Given the description of an element on the screen output the (x, y) to click on. 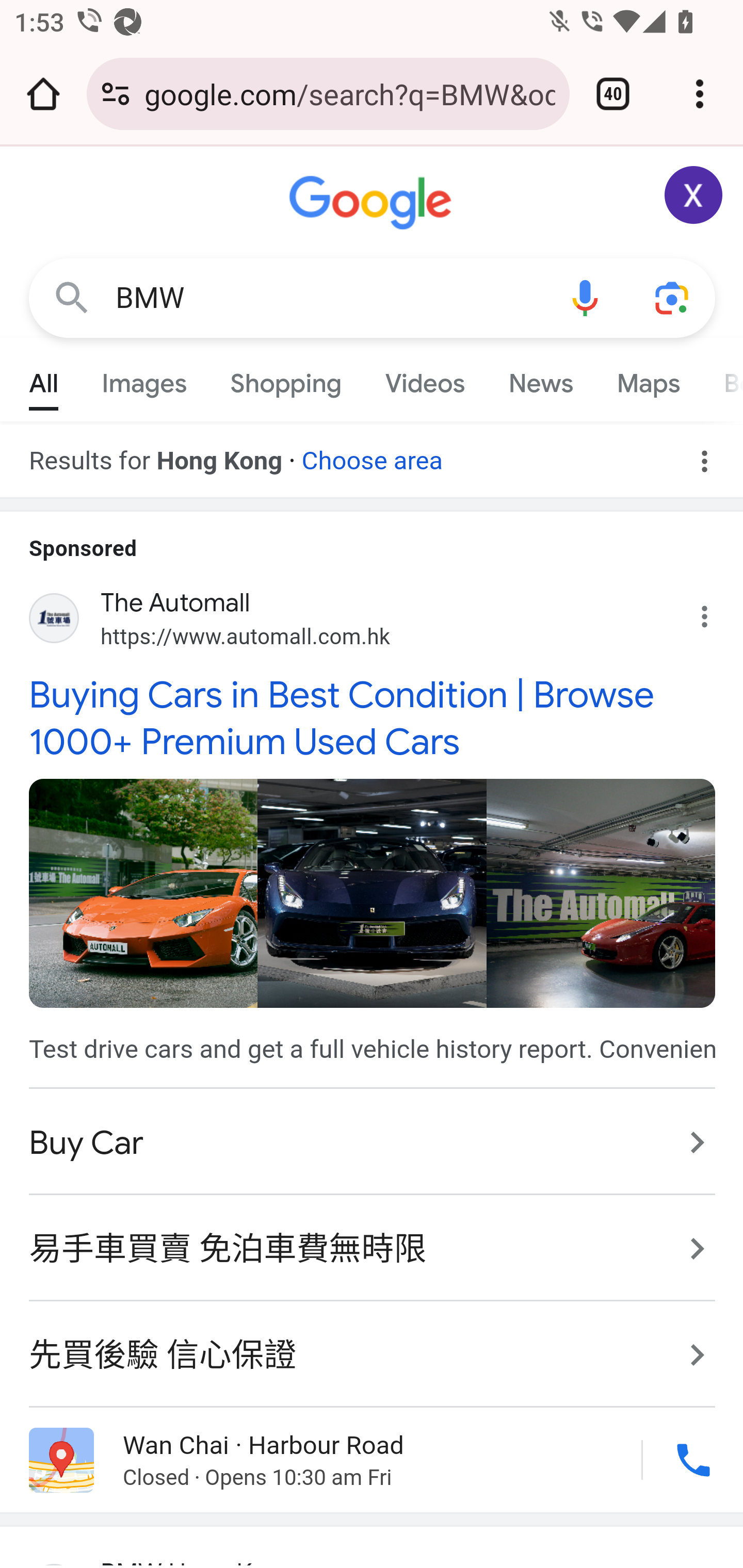
Open the home page (43, 93)
Connection is secure (115, 93)
Switch or close tabs (612, 93)
Customize and control Google Chrome (699, 93)
Google (372, 203)
Google Account: Xiaoran (zxrappiumtest@gmail.com) (694, 195)
Google Search (71, 296)
Search using your camera or photos (672, 296)
BMW (328, 297)
Images (144, 378)
Shopping (285, 378)
Videos (424, 378)
News (540, 378)
Maps (647, 378)
Choose area (371, 453)
Why this ad? (714, 611)
Image from automall.com.hk (141, 892)
Image from automall.com.hk (371, 892)
Image from automall.com.hk (600, 892)
Buy Car (372, 1142)
易手車買賣 免泊車費無時限 (372, 1248)
先買後驗 信心保證 (372, 1344)
